Given the description of an element on the screen output the (x, y) to click on. 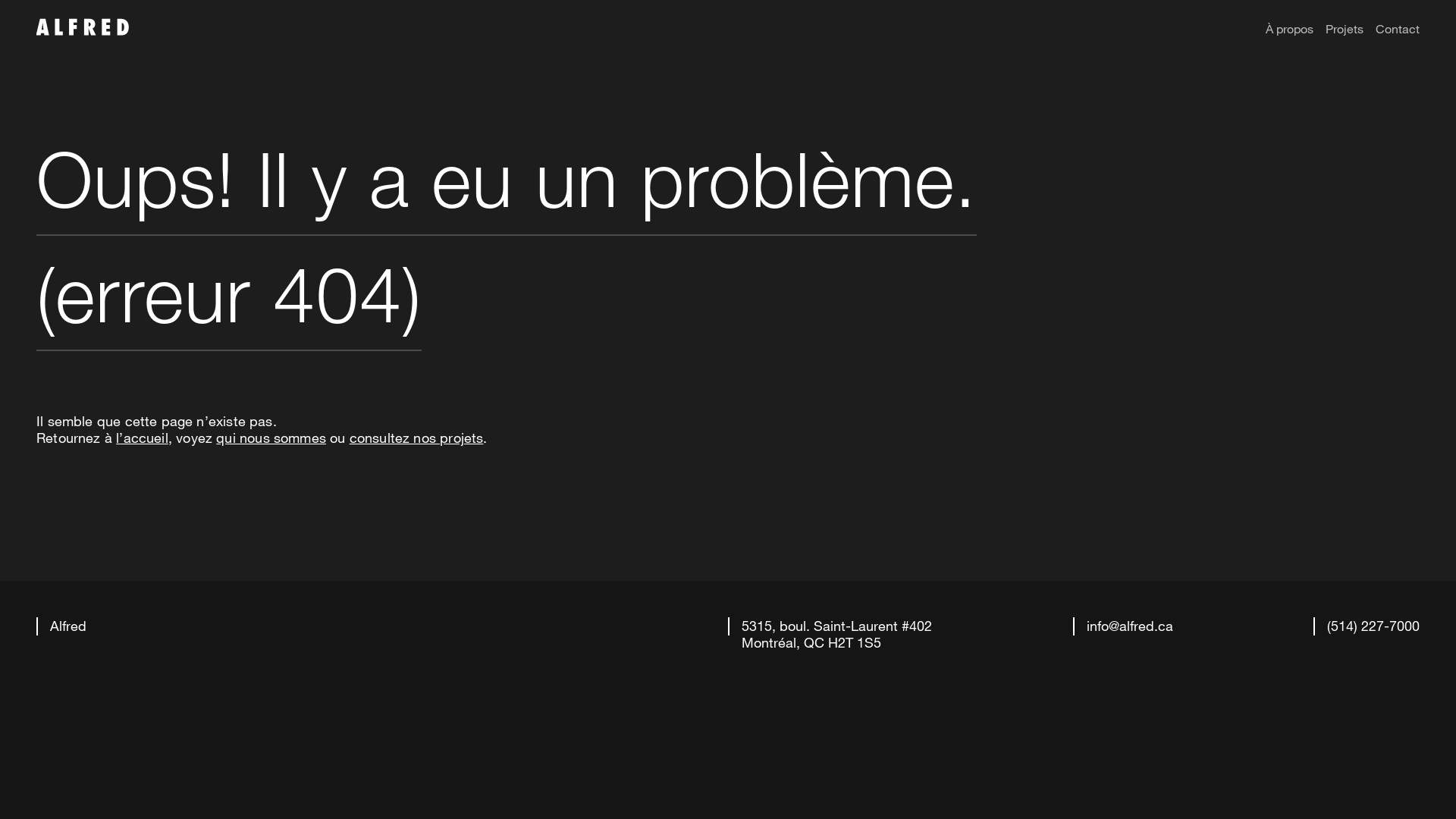
info@alfred.ca Element type: text (1122, 626)
consultez nos projets Element type: text (416, 437)
qui nous sommes Element type: text (271, 437)
Projets Element type: text (1344, 28)
(514) 227-7000 Element type: text (1366, 626)
Contact Element type: text (1397, 28)
Alfred Element type: text (61, 633)
